Given the description of an element on the screen output the (x, y) to click on. 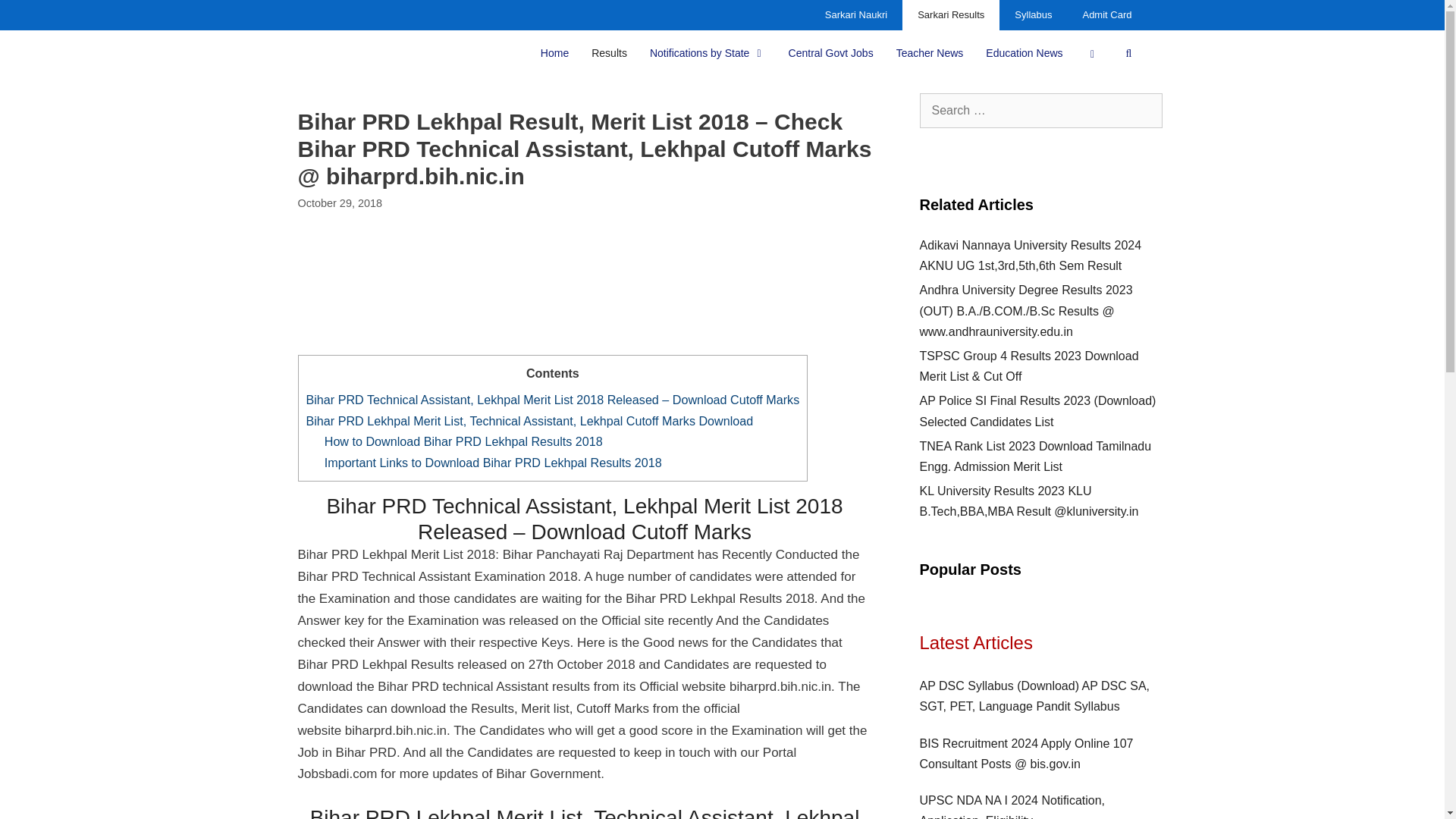
Teachersbadi Teachernews AP Teachers and TSTeachers (930, 53)
Home (554, 53)
Results (609, 53)
Search for: (1039, 110)
Sarkari Results (950, 15)
Syllabus (1032, 15)
Jobsbadi (346, 53)
Central Govt Jobs, Public limited difence Railway IBPS Jobs (831, 53)
Notifications by State (708, 53)
Jobsbadi (342, 53)
Sarkari Naukri (855, 15)
Admit Card (1107, 15)
